Given the description of an element on the screen output the (x, y) to click on. 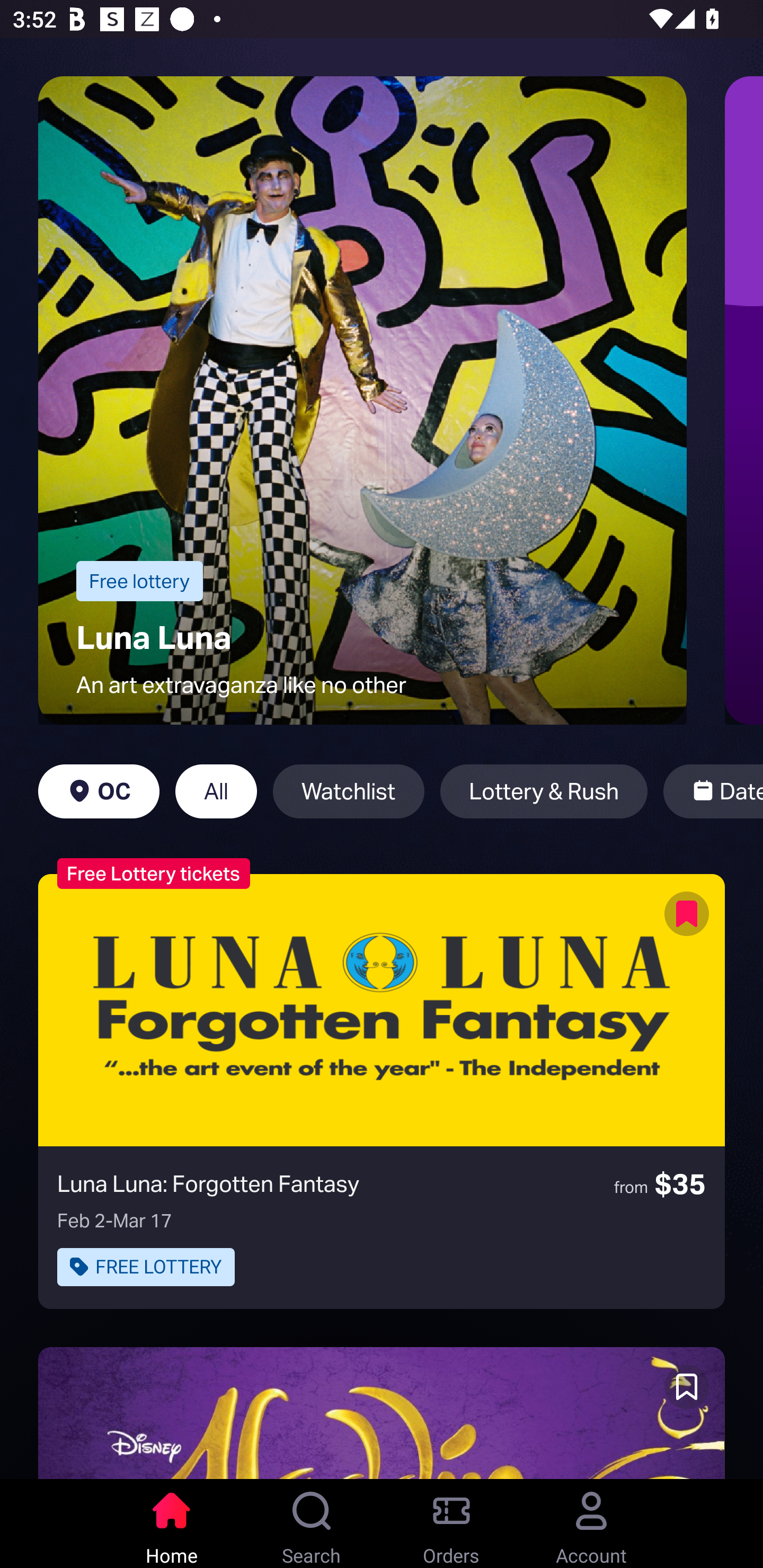
OC (98, 791)
All (216, 791)
Watchlist (348, 791)
Lottery & Rush (543, 791)
Search (311, 1523)
Orders (451, 1523)
Account (591, 1523)
